Given the description of an element on the screen output the (x, y) to click on. 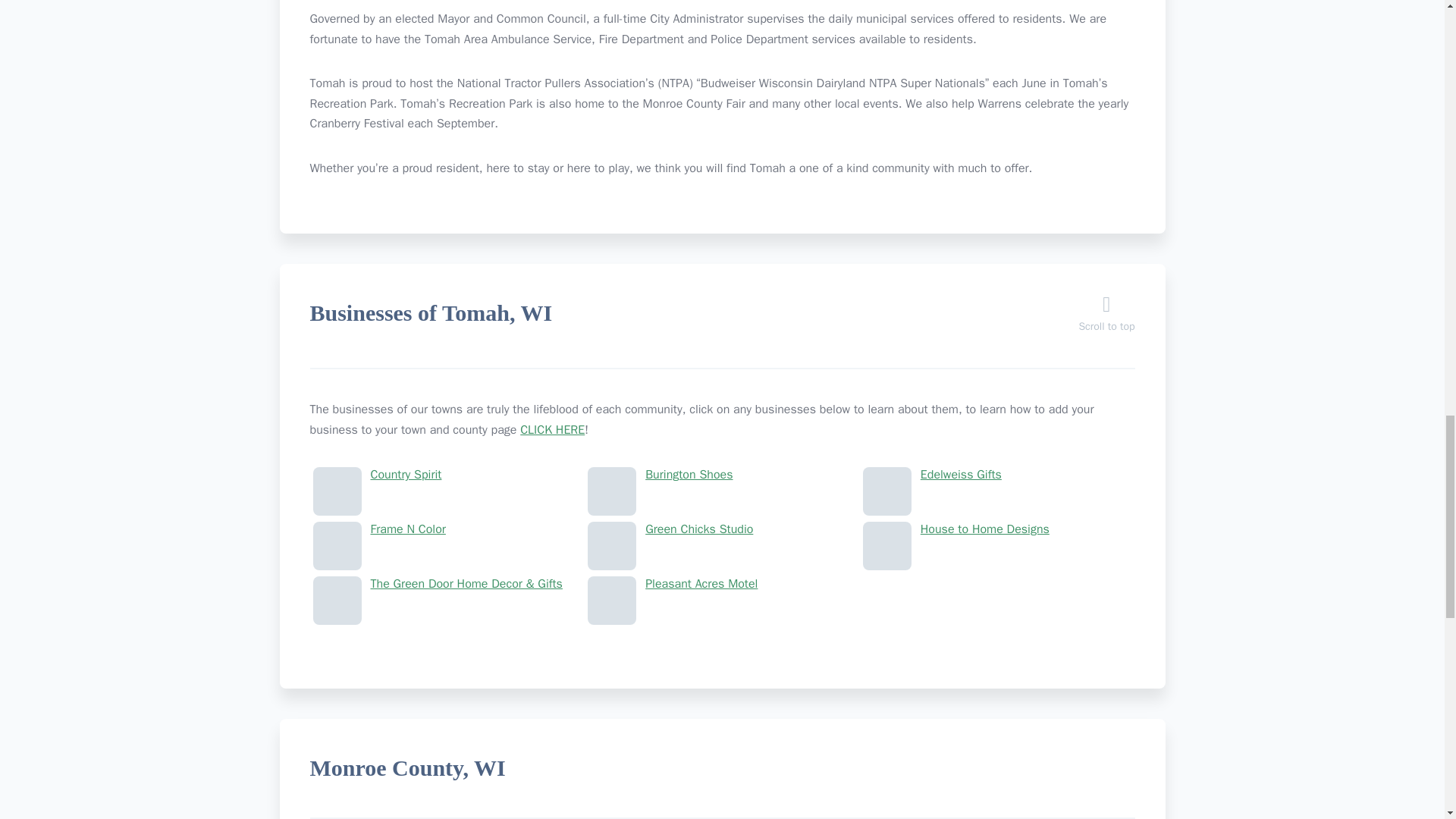
Scroll to top (1106, 318)
Edelweiss Gifts (997, 474)
Scroll to top of page (1106, 318)
CLICK HERE (552, 429)
Burington Shoes (722, 474)
Country Spirit (446, 474)
Frame N Color (446, 529)
